Given the description of an element on the screen output the (x, y) to click on. 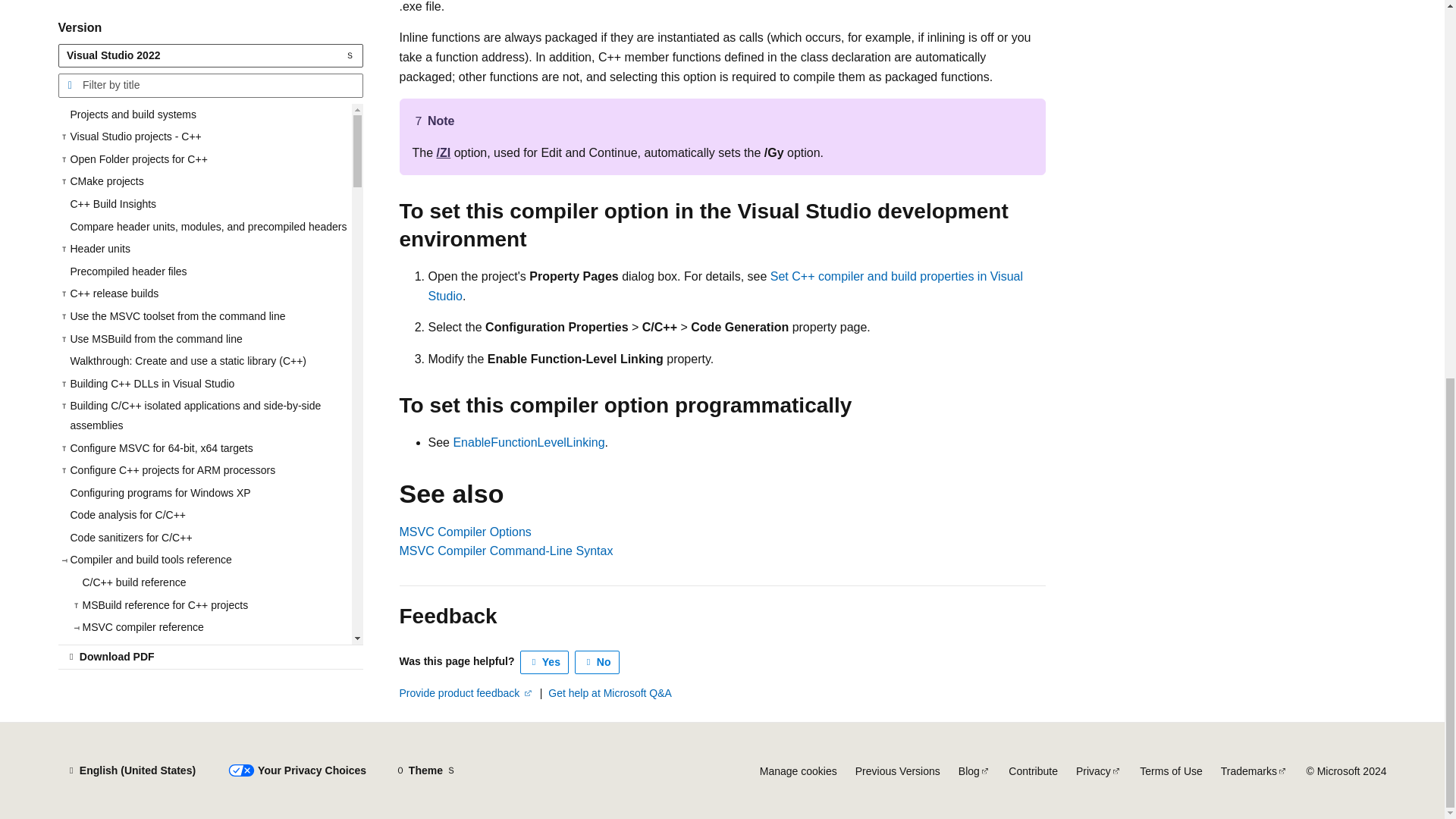
This article is helpful (544, 662)
Theme (425, 770)
This article is not helpful (597, 662)
